Given the description of an element on the screen output the (x, y) to click on. 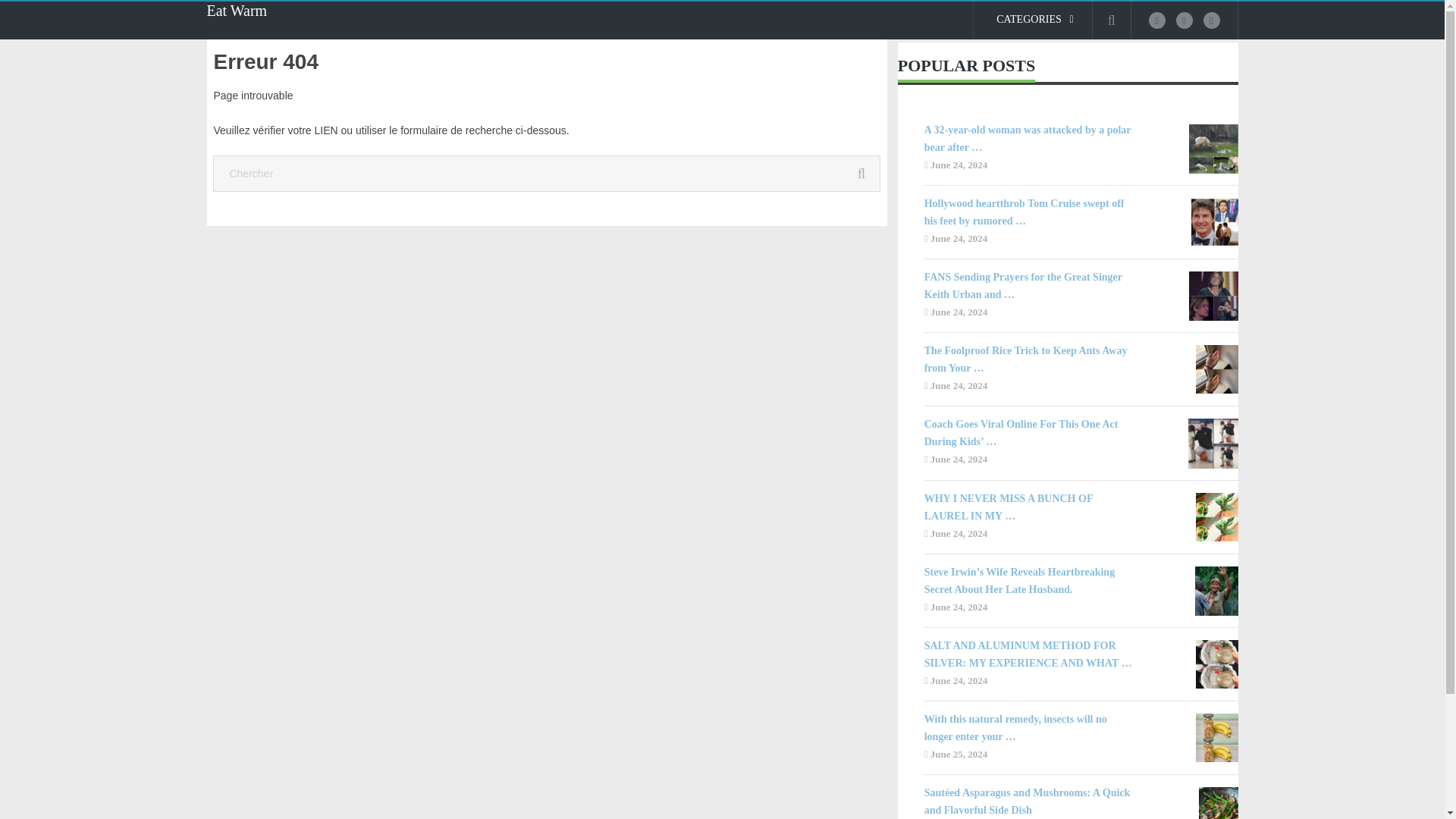
CATEGORIES (1033, 19)
Eat Warm (236, 10)
